Given the description of an element on the screen output the (x, y) to click on. 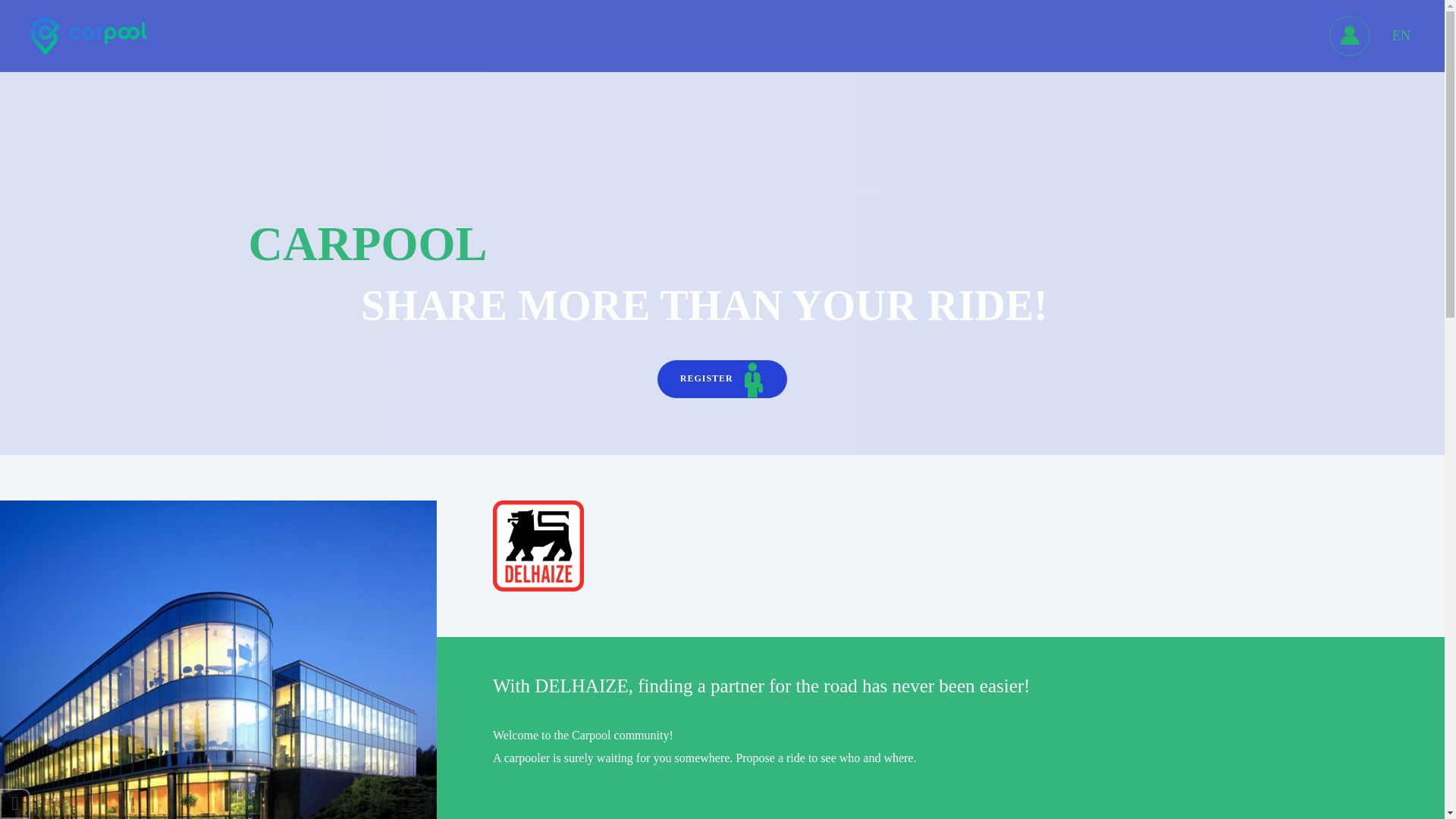
EN Element type: text (1401, 35)
